Given the description of an element on the screen output the (x, y) to click on. 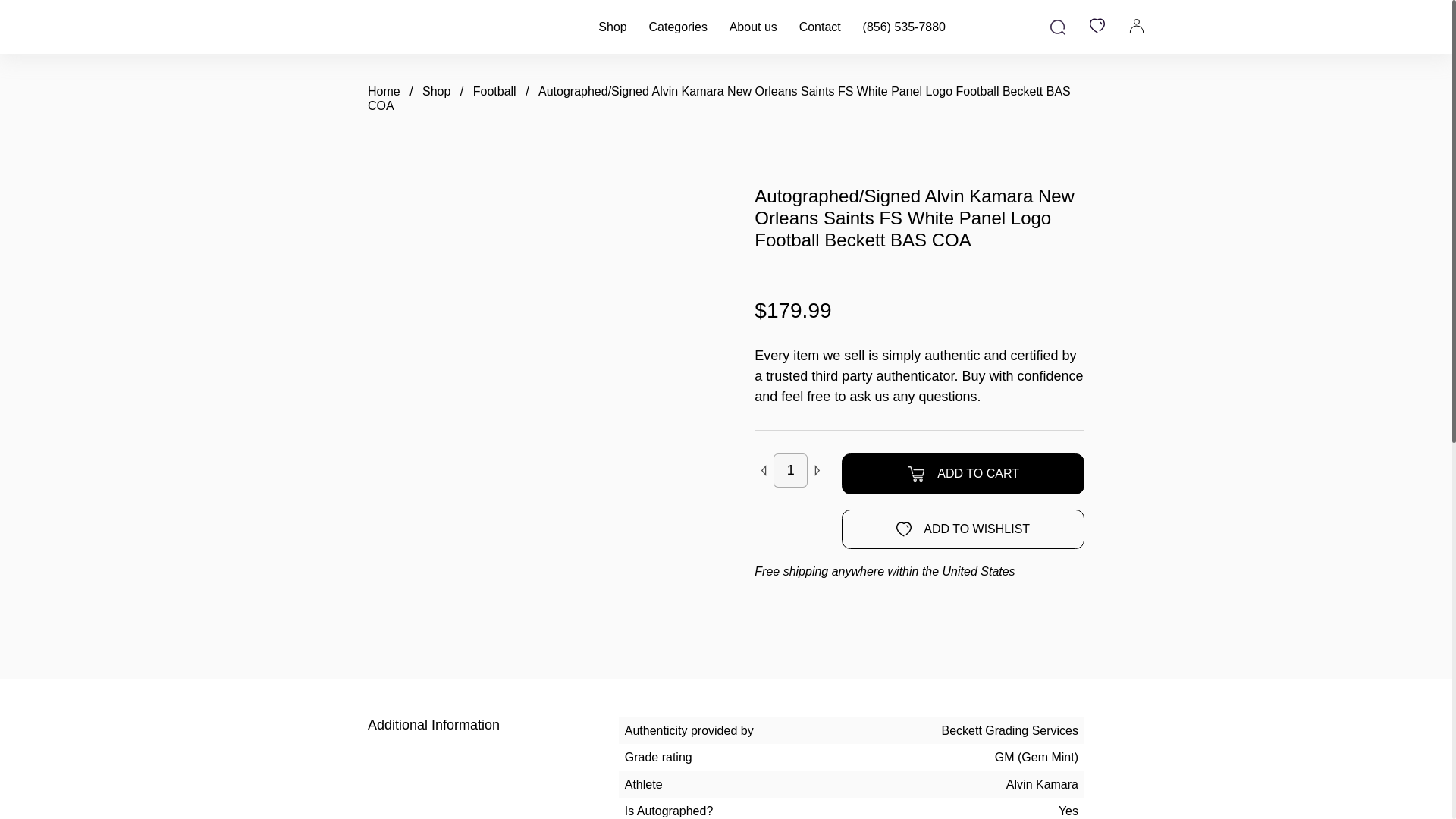
Shop (435, 91)
ADD TO WISHLIST (962, 528)
Shop (612, 26)
Home (384, 91)
Football (494, 91)
About us (753, 26)
Contact (820, 26)
ADD TO CART (962, 473)
1 (790, 470)
